Given the description of an element on the screen output the (x, y) to click on. 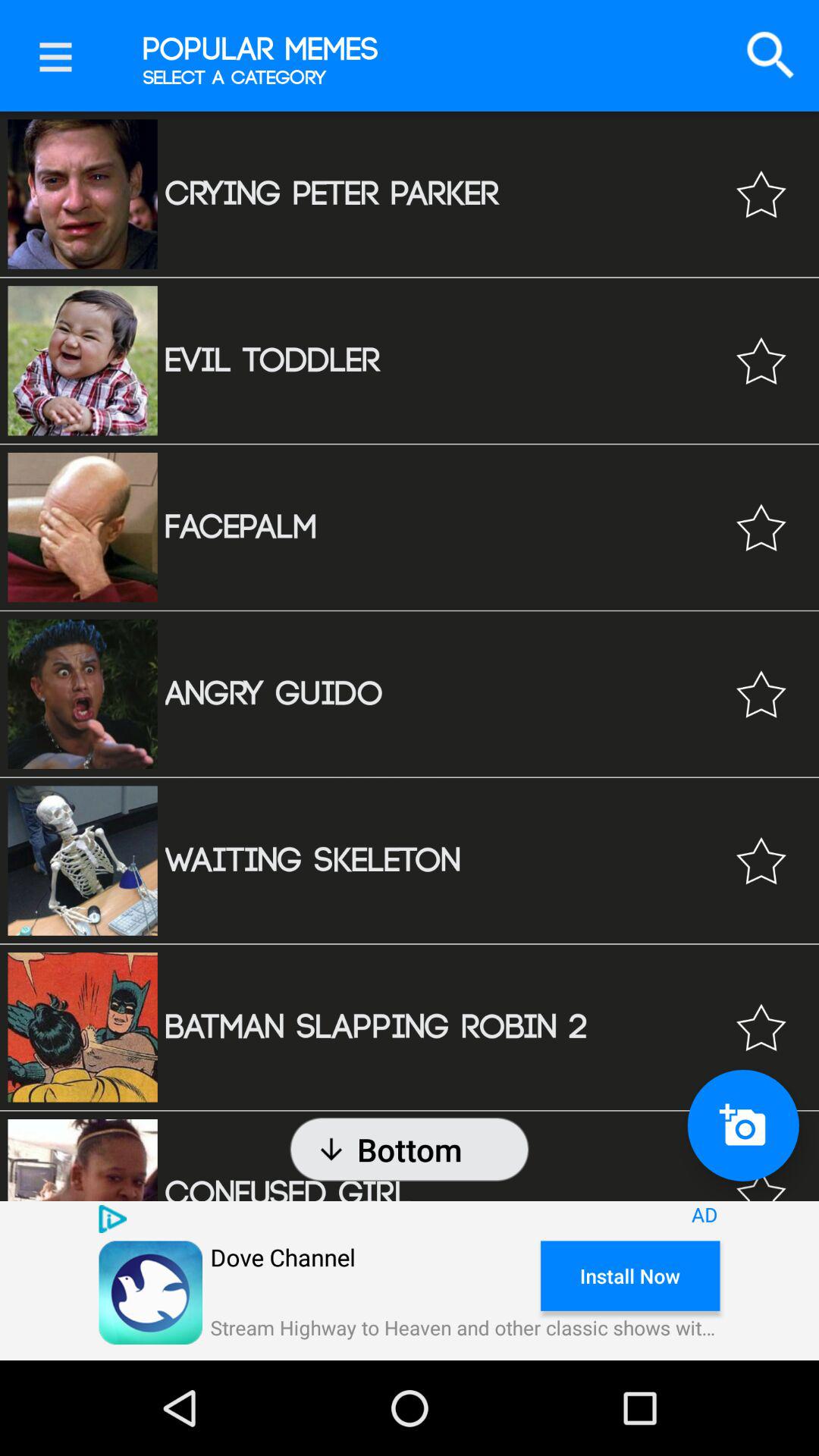
favorite (761, 1172)
